Given the description of an element on the screen output the (x, y) to click on. 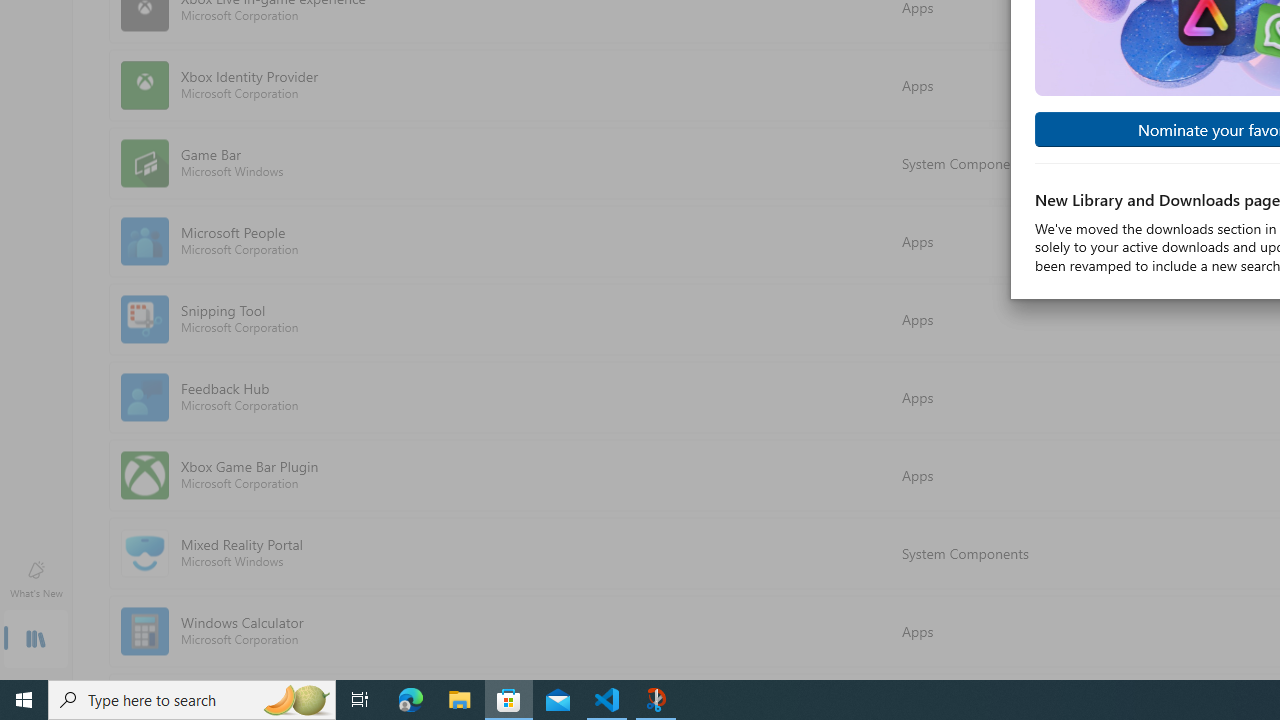
What's New (35, 578)
Library (35, 640)
